Given the description of an element on the screen output the (x, y) to click on. 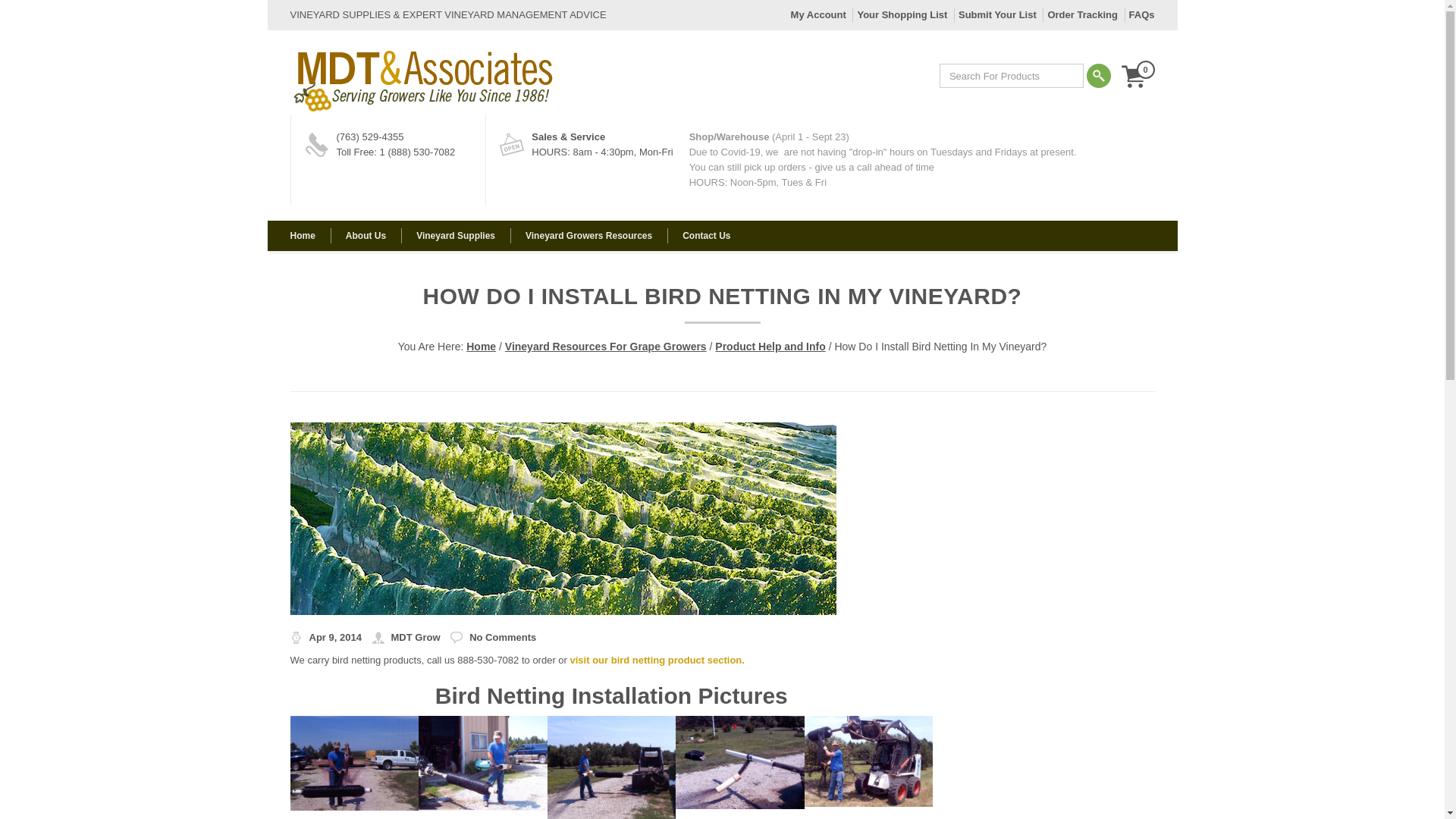
birdnet4 (740, 761)
birdnet5 (868, 760)
My Account (817, 14)
birdnets1 (354, 762)
birdnets2 (483, 762)
birdnet3 (612, 766)
Order Tracking (1081, 14)
Submit Your List (997, 14)
Home (309, 235)
FAQs (1141, 14)
About Us (365, 235)
Your Shopping List (902, 14)
Vineyard Supplies (456, 235)
